Given the description of an element on the screen output the (x, y) to click on. 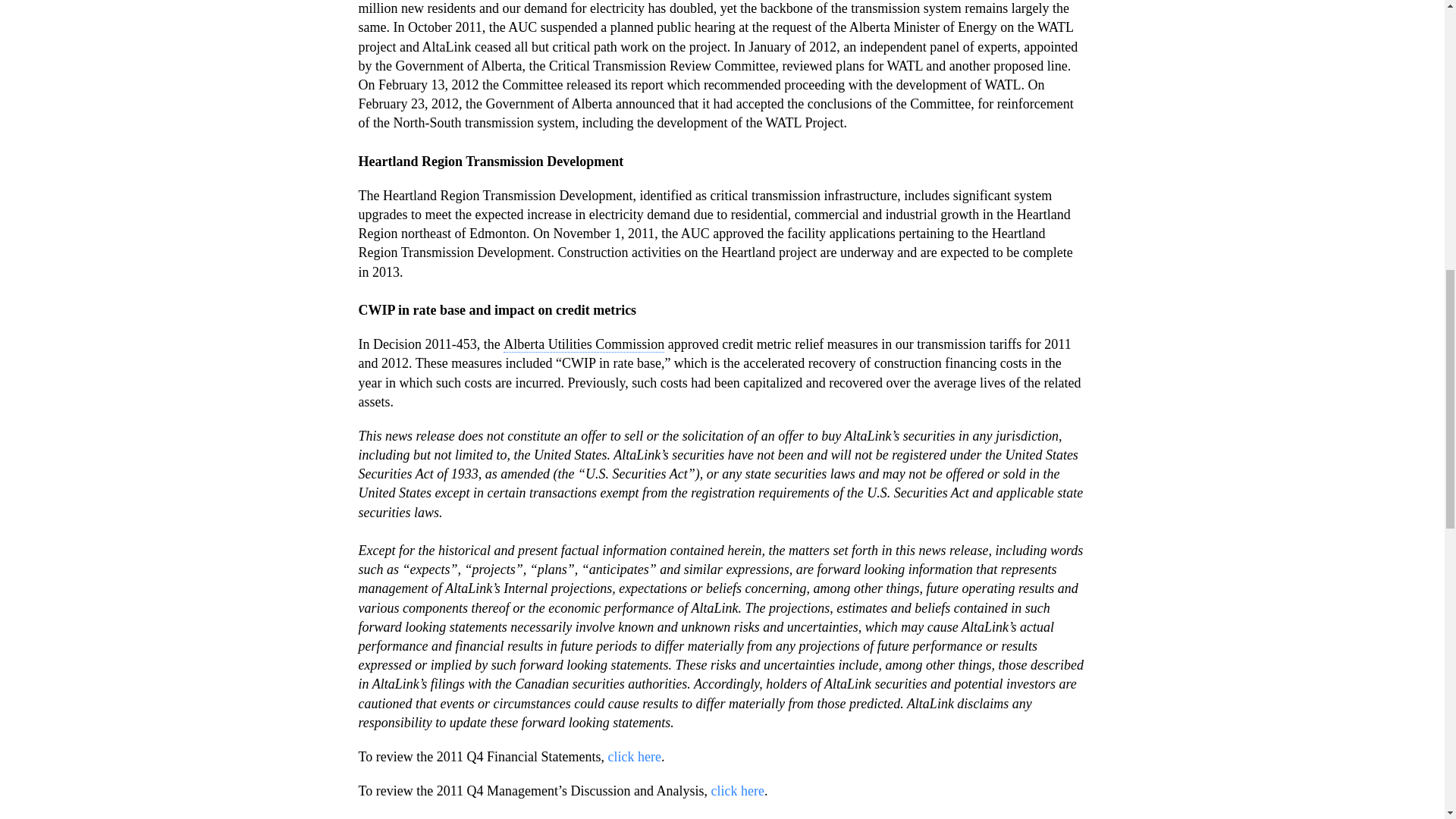
click here (737, 790)
click here (634, 756)
